Given the description of an element on the screen output the (x, y) to click on. 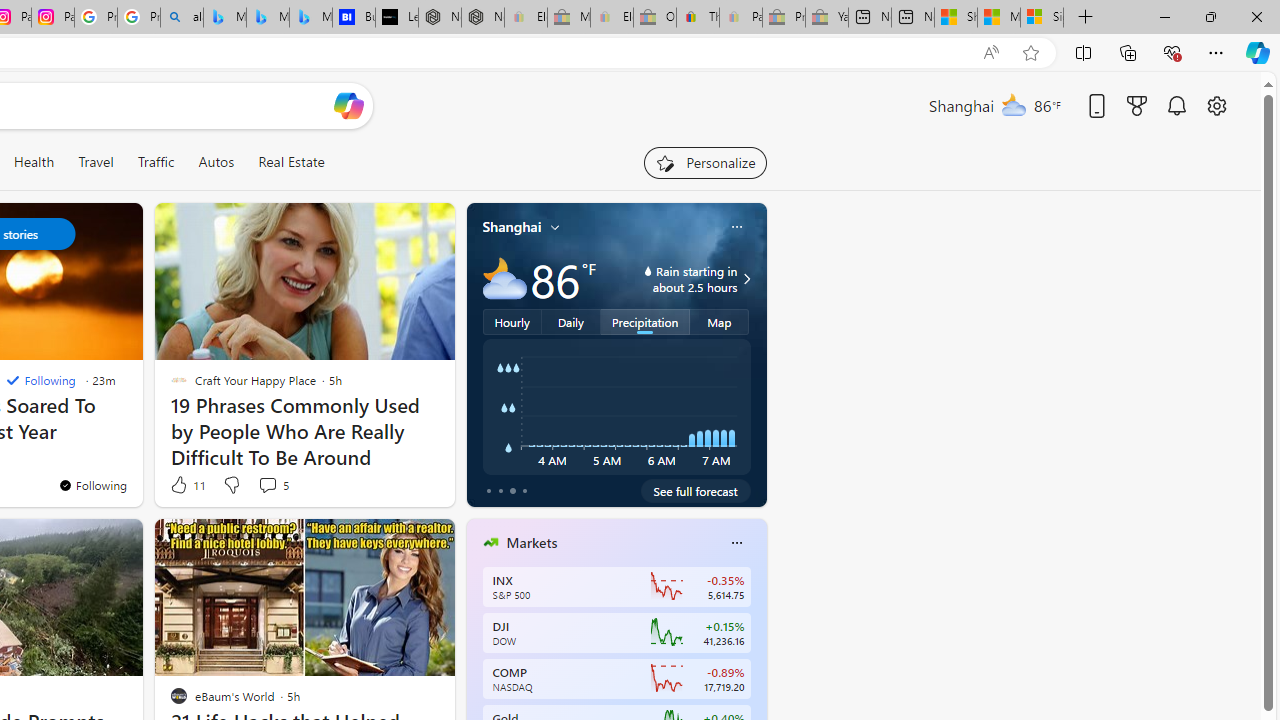
Microsoft Bing Travel - Flights from Hong Kong to Bangkok (224, 17)
4 AM 5 AM 6 AM 7 AM (616, 407)
View comments 5 Comment (272, 484)
tab-0 (488, 490)
Mostly cloudy (504, 278)
Markets (531, 543)
tab-2 (511, 490)
